Given the description of an element on the screen output the (x, y) to click on. 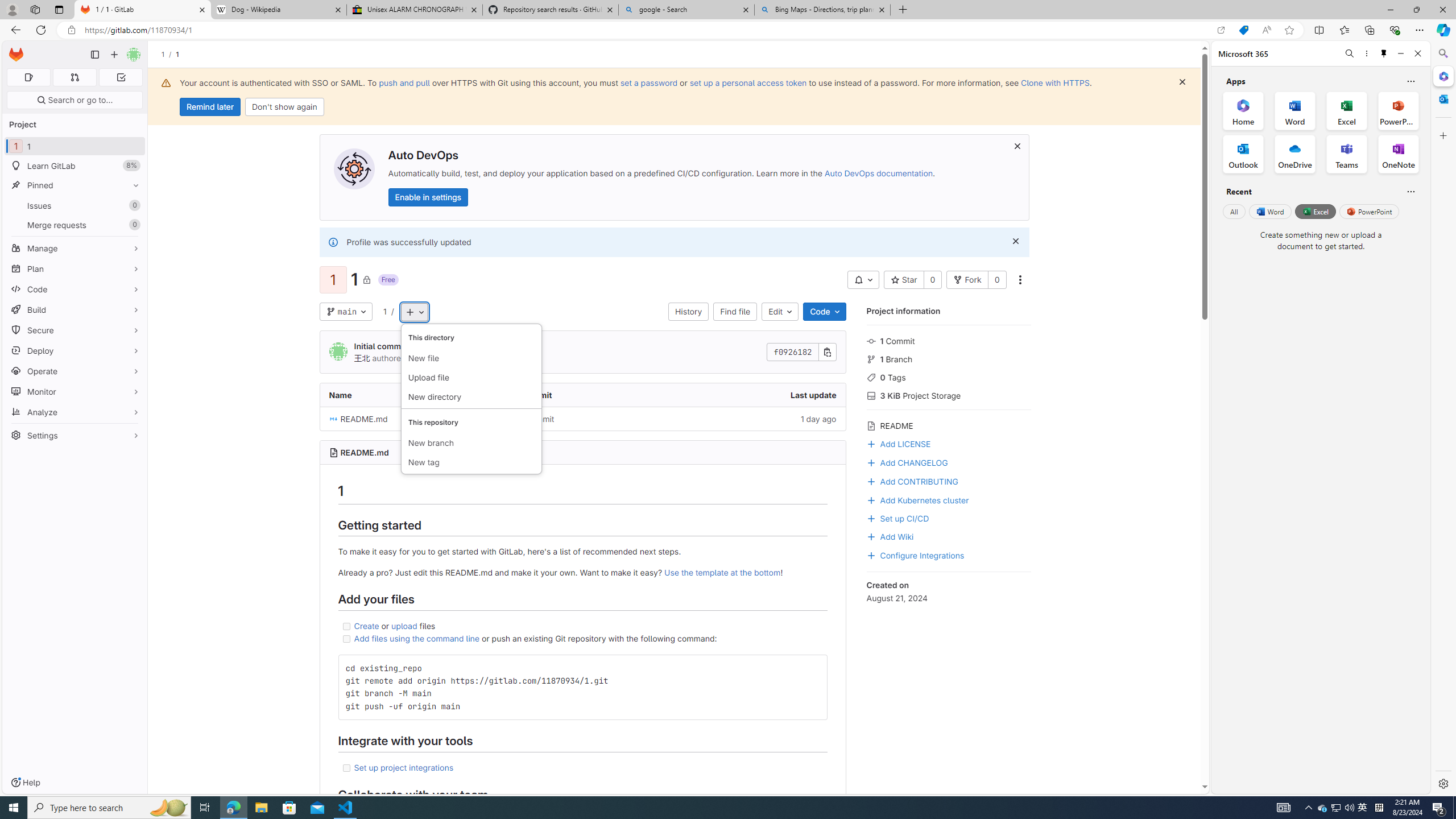
History (688, 311)
Clone with HTTPS (1054, 82)
Open in app (1220, 29)
Outlook Office App (1243, 154)
Unpin side pane (1383, 53)
Monitor (74, 391)
Operate (74, 370)
Merge requests 0 (74, 224)
1 Branch (948, 358)
README.md (407, 418)
Code (824, 311)
AutomationID: __BVID__498__BV_toggle_ (863, 280)
